Given the description of an element on the screen output the (x, y) to click on. 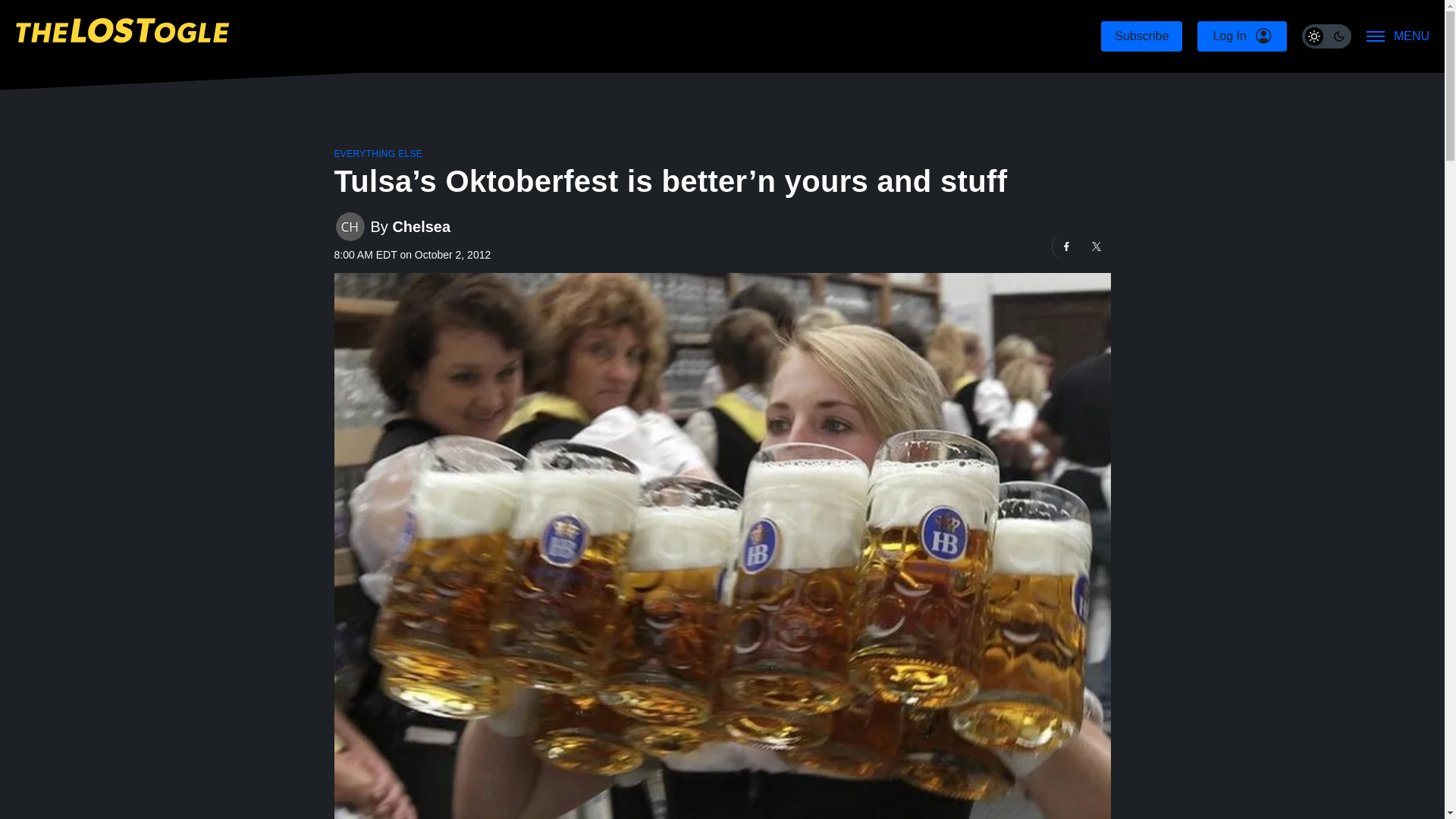
Chelsea (420, 227)
EVERYTHING ELSE (377, 153)
MENU (1398, 36)
Share on Facebook (1066, 246)
Subscribe (1141, 36)
Log In (1240, 36)
